Given the description of an element on the screen output the (x, y) to click on. 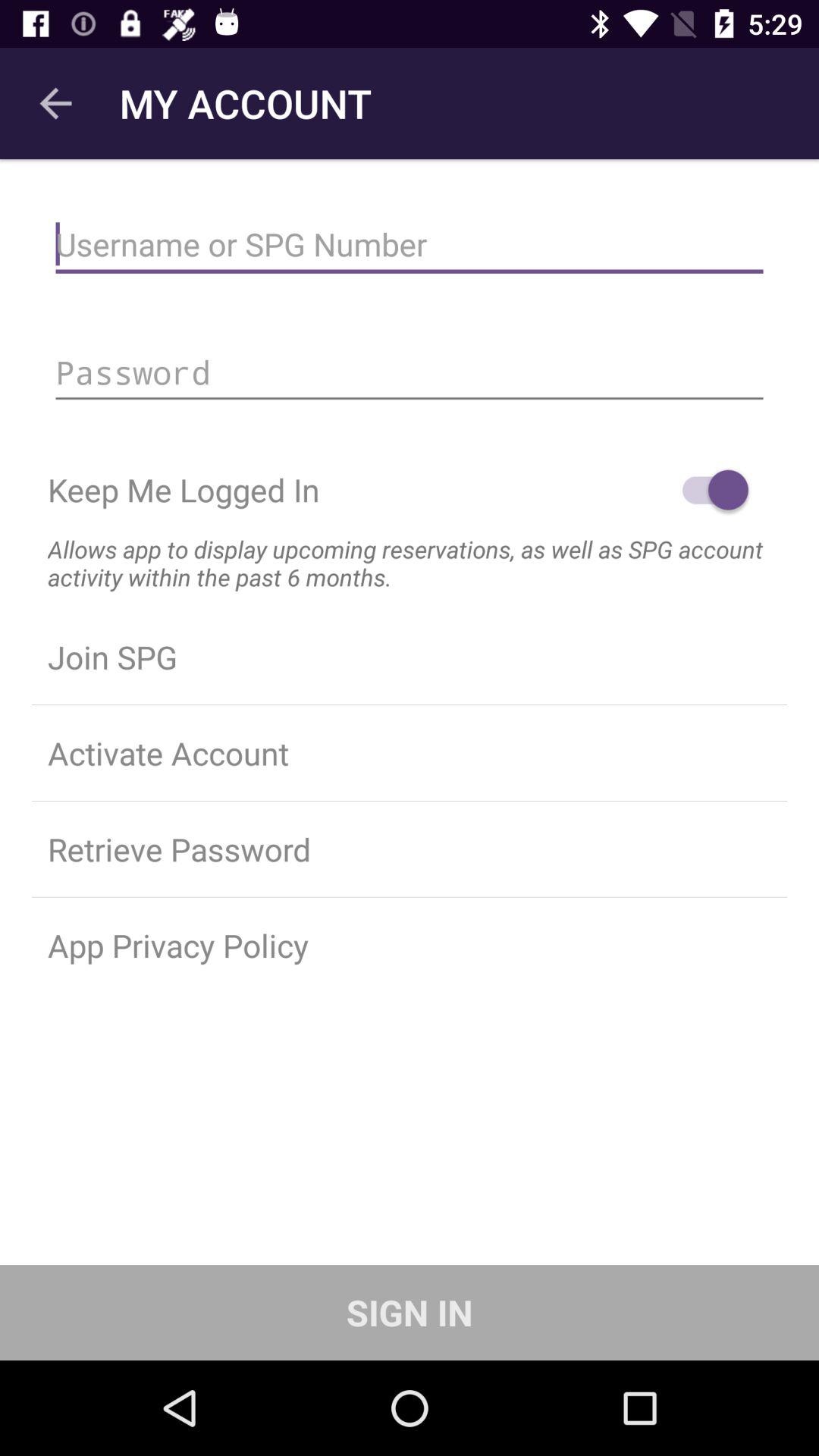
turn off item below activate account (409, 848)
